Given the description of an element on the screen output the (x, y) to click on. 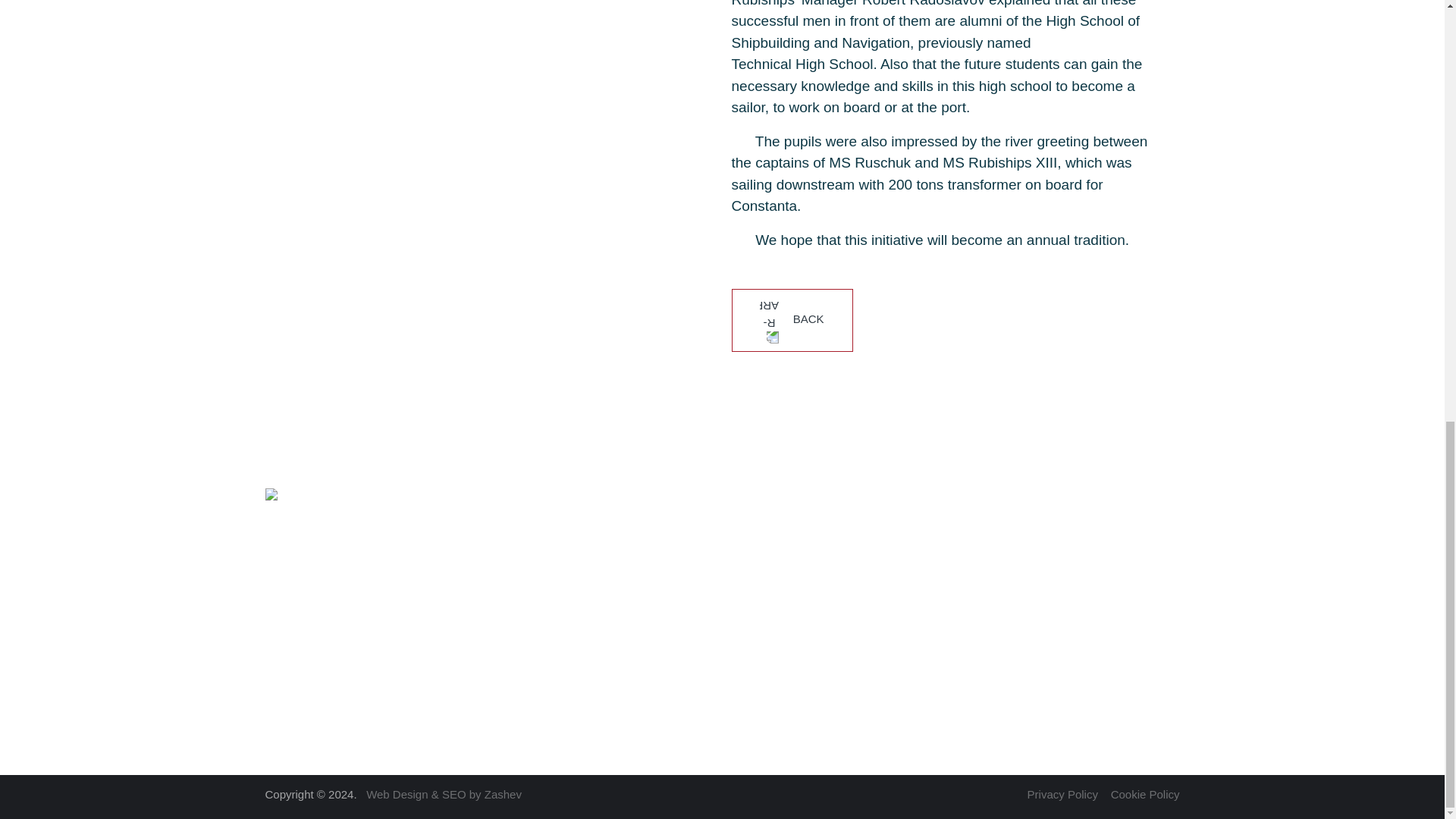
Services (1064, 577)
Fleet (1054, 610)
YouTube (290, 676)
Privacy Policy (1062, 793)
About us (1064, 544)
Contacts (1064, 676)
 BACK (790, 320)
Cookie Policy (1144, 793)
Danube waterway (1087, 644)
